Given the description of an element on the screen output the (x, y) to click on. 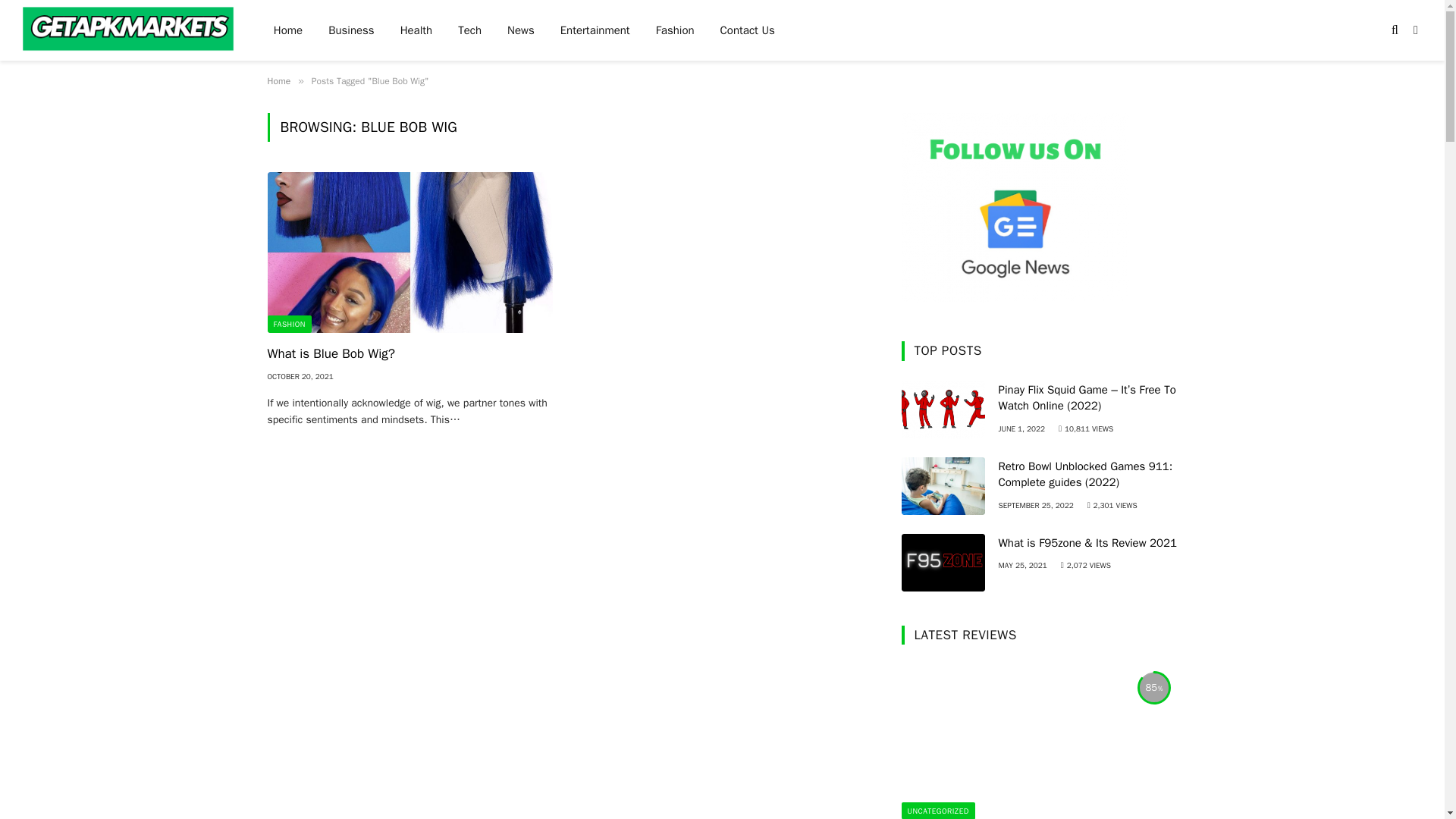
Home (287, 30)
Business (351, 30)
Switch to Dark Design - easier on eyes. (1414, 30)
Health (416, 30)
10811 Article Views (1085, 429)
Fashion (675, 30)
Getapkmarkets (128, 31)
What is Blue Bob Wig? (408, 251)
Contact Us (747, 30)
Entertainment (595, 30)
